Given the description of an element on the screen output the (x, y) to click on. 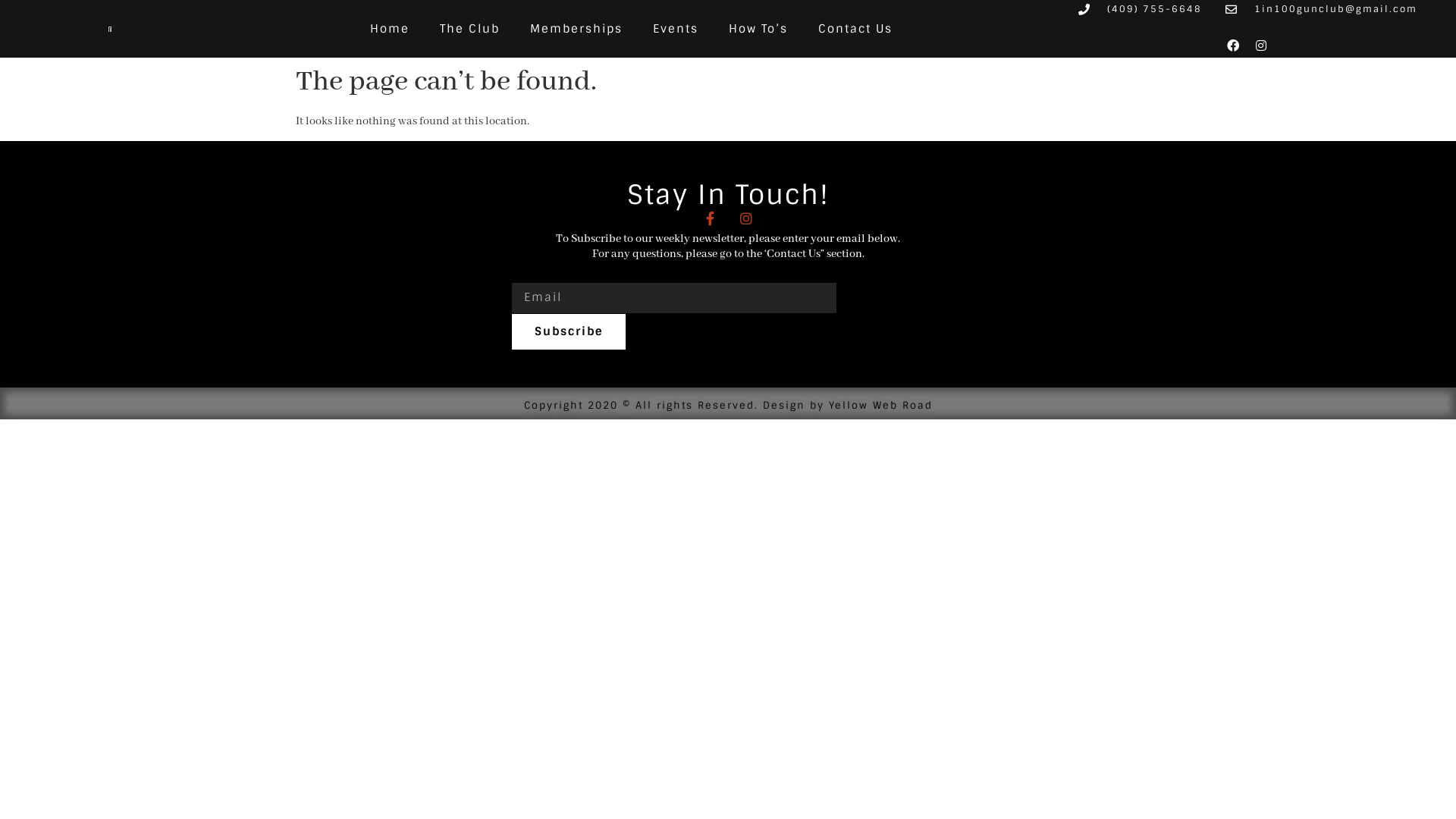
Subscribe Element type: text (568, 331)
1in100gunclub@gmail.com Element type: text (1320, 9)
Contact Us Element type: text (855, 28)
(409) 755-6648 Element type: text (1139, 9)
Home Element type: text (389, 28)
Events Element type: text (675, 28)
Memberships Element type: text (575, 28)
The Club Element type: text (469, 28)
